Given the description of an element on the screen output the (x, y) to click on. 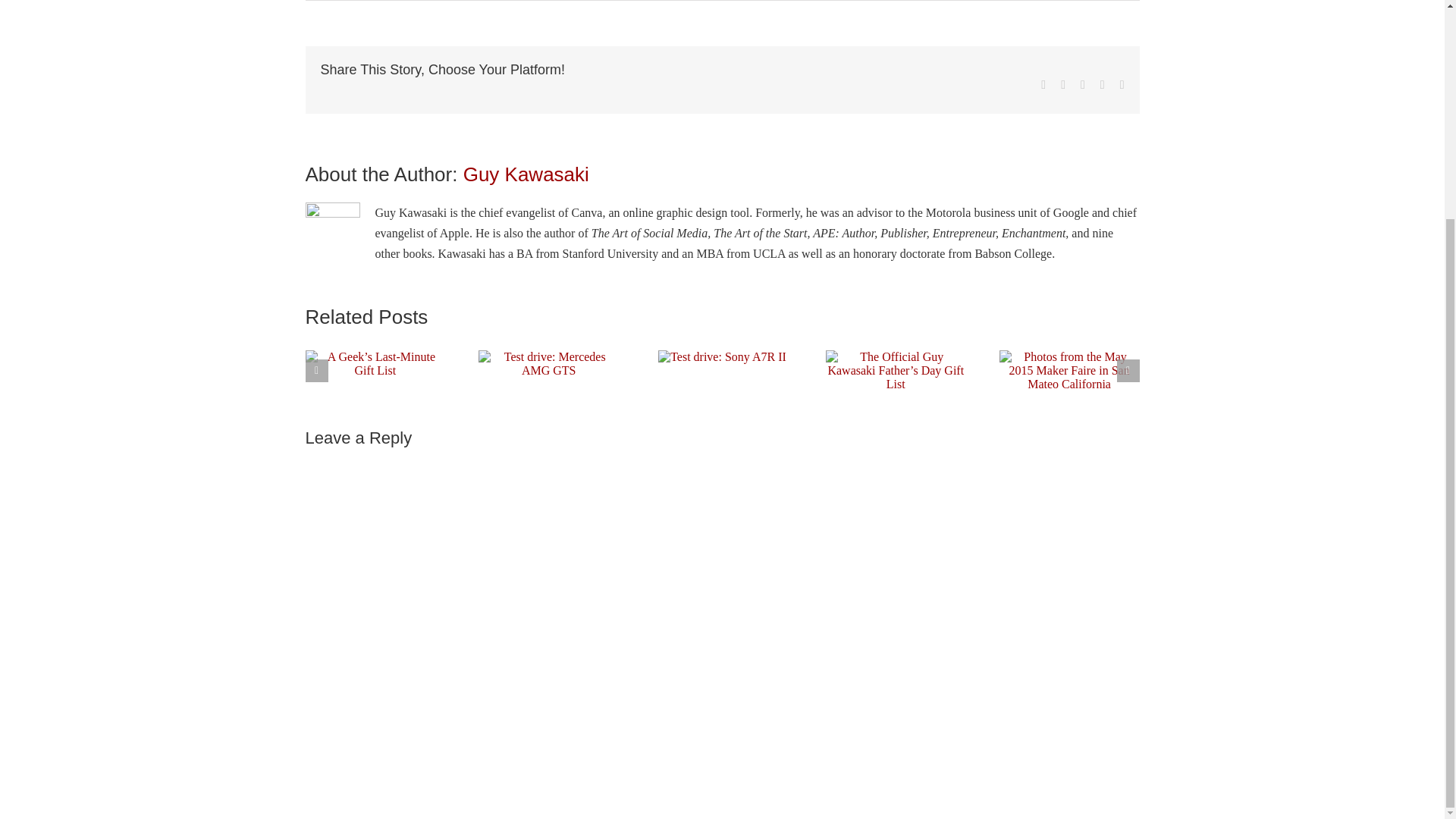
X (1063, 84)
X (1063, 84)
Posts by Guy Kawasaki (526, 173)
Facebook (1043, 84)
Email (1121, 84)
Reddit (1082, 84)
Facebook (1043, 84)
Reddit (1082, 84)
Email (1121, 84)
LinkedIn (1102, 84)
LinkedIn (1102, 84)
Guy Kawasaki (526, 173)
